Given the description of an element on the screen output the (x, y) to click on. 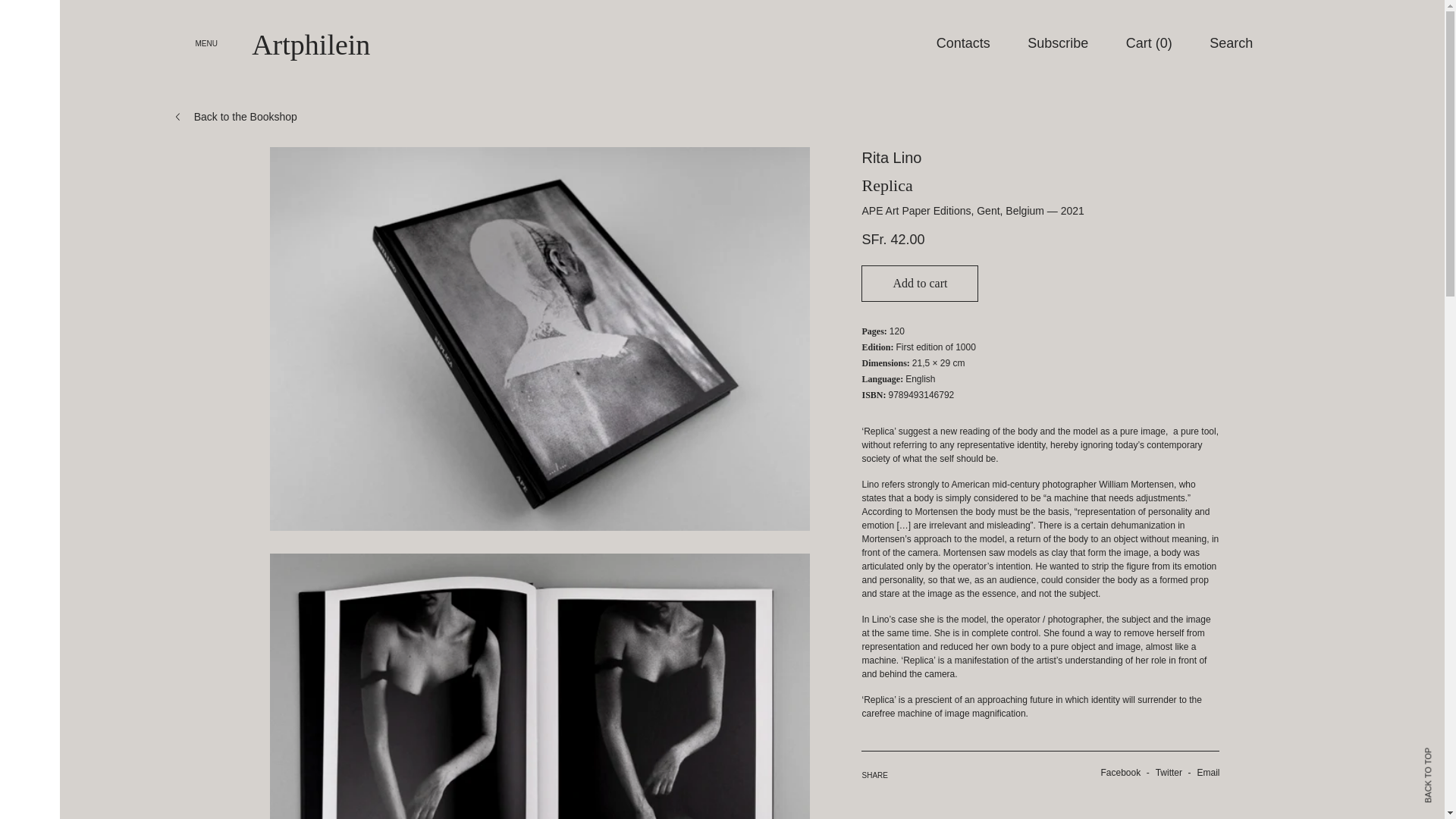
Artphilein (310, 44)
APE Art Paper Editions, Gent, Belgium (952, 210)
APE Art Paper Editions, Gent, Belgium (952, 210)
Email (1202, 772)
Facebook (1114, 772)
Subscribe (1057, 43)
Contacts (963, 43)
Twitter (1163, 772)
Add to cart (919, 283)
Search (1230, 43)
